Given the description of an element on the screen output the (x, y) to click on. 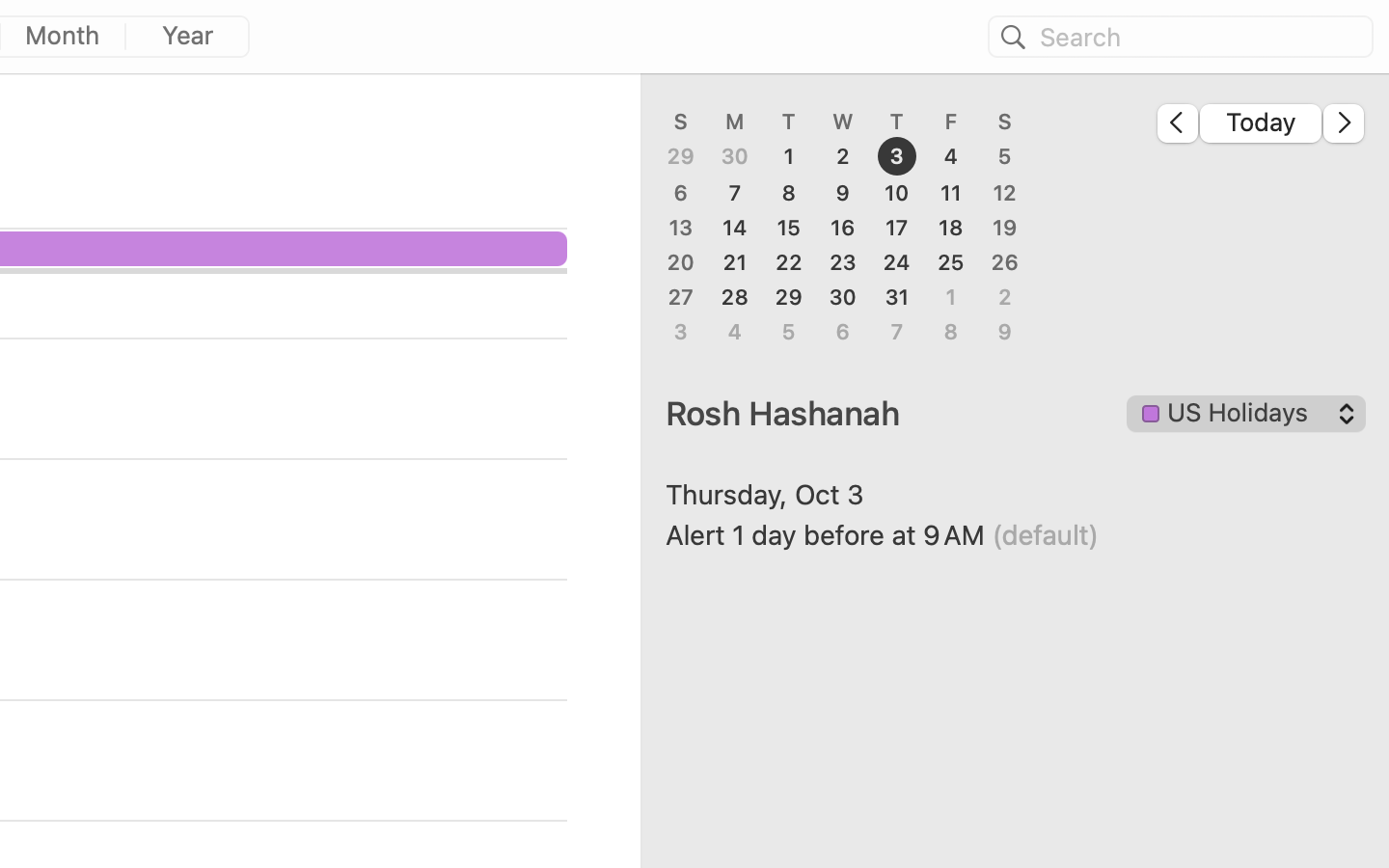
4 Element type: AXStaticText (951, 156)
31 Element type: AXStaticText (897, 296)
25 Element type: AXStaticText (951, 261)
20 Element type: AXStaticText (680, 261)
